Given the description of an element on the screen output the (x, y) to click on. 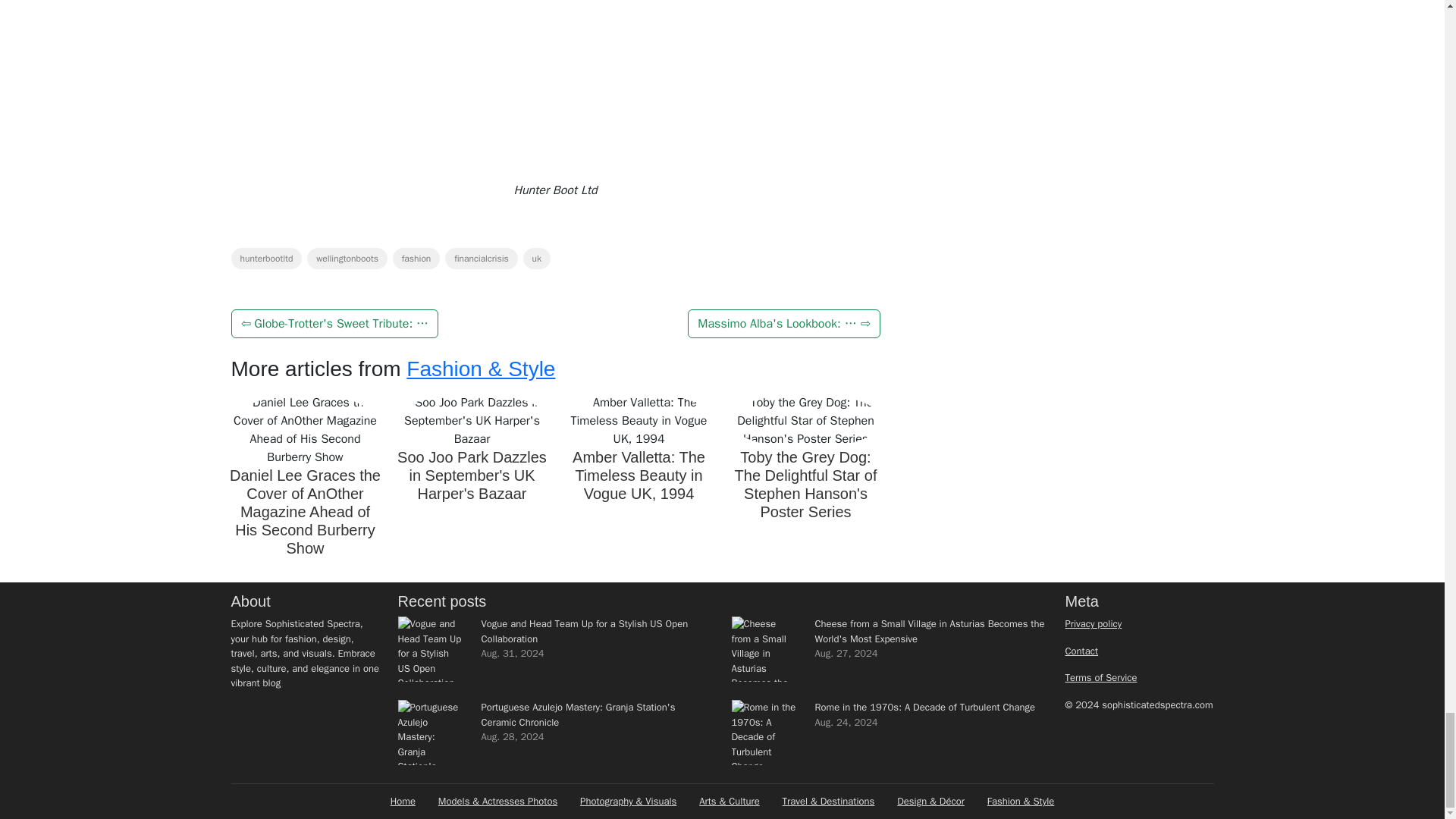
uk (536, 258)
financialcrisis (481, 258)
Soo Joo Park Dazzles in September's UK Harper's Bazaar (472, 475)
Amber Valletta: The Timeless Beauty in Vogue UK, 1994 (638, 475)
fashion (417, 258)
hunterbootltd (265, 258)
wellingtonboots (347, 258)
